Given the description of an element on the screen output the (x, y) to click on. 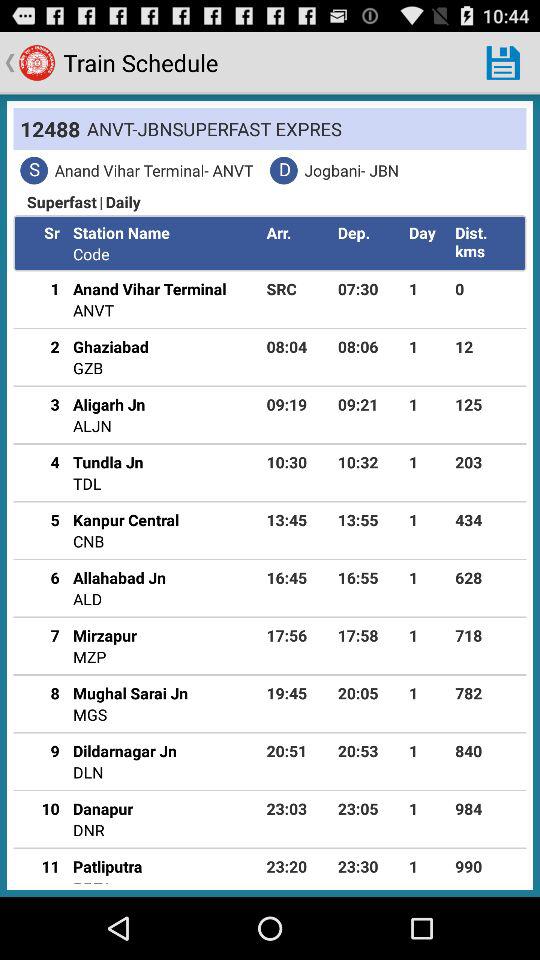
open the 11 icon (43, 866)
